Given the description of an element on the screen output the (x, y) to click on. 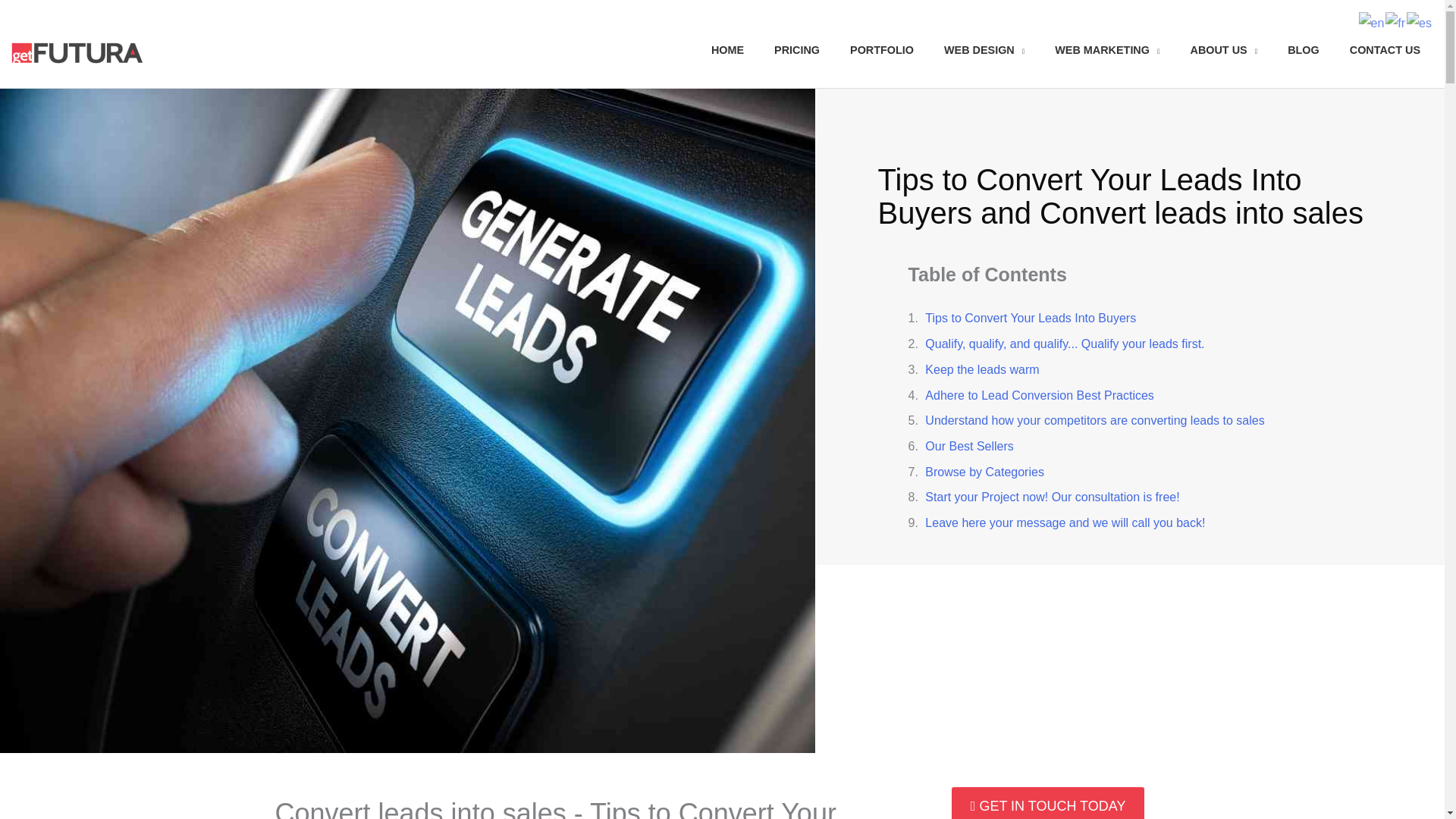
PORTFOLIO (881, 50)
English (1372, 21)
Spanish (1419, 21)
WEB DESIGN (983, 50)
BLOG (1303, 50)
WEB MARKETING (1106, 50)
French (1396, 21)
Adhere to Lead Conversion Best Practices (1039, 395)
HOME (726, 50)
Qualify, qualify, and qualify... Qualify your leads first. (1064, 343)
